Given the description of an element on the screen output the (x, y) to click on. 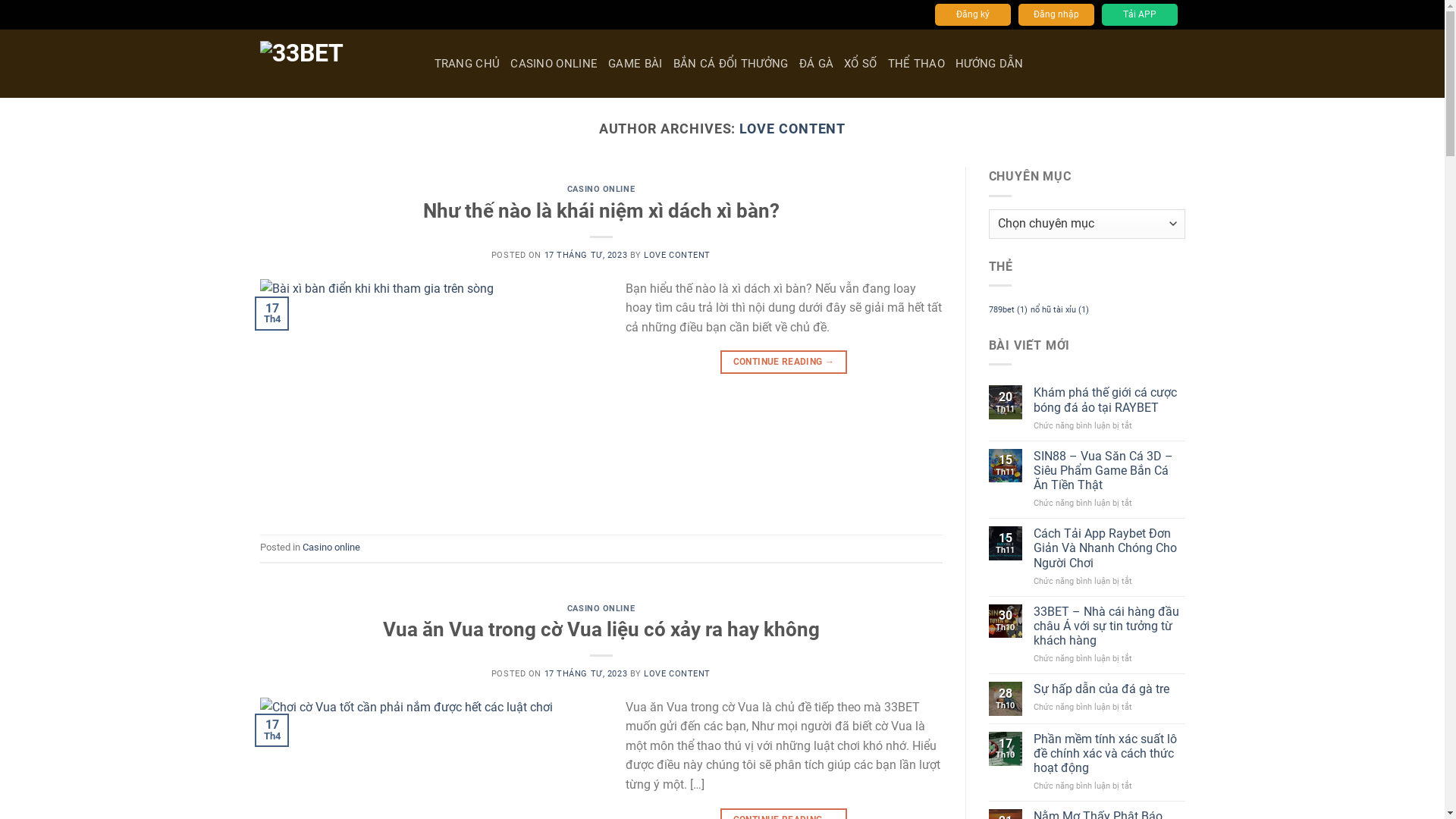
789bet (1) Element type: text (1007, 309)
LOVE CONTENT Element type: text (676, 255)
LOVE CONTENT Element type: text (676, 673)
LOVE CONTENT Element type: text (792, 128)
CASINO ONLINE Element type: text (600, 189)
CASINO ONLINE Element type: text (600, 608)
CASINO ONLINE Element type: text (553, 63)
Casino online Element type: text (330, 546)
